Given the description of an element on the screen output the (x, y) to click on. 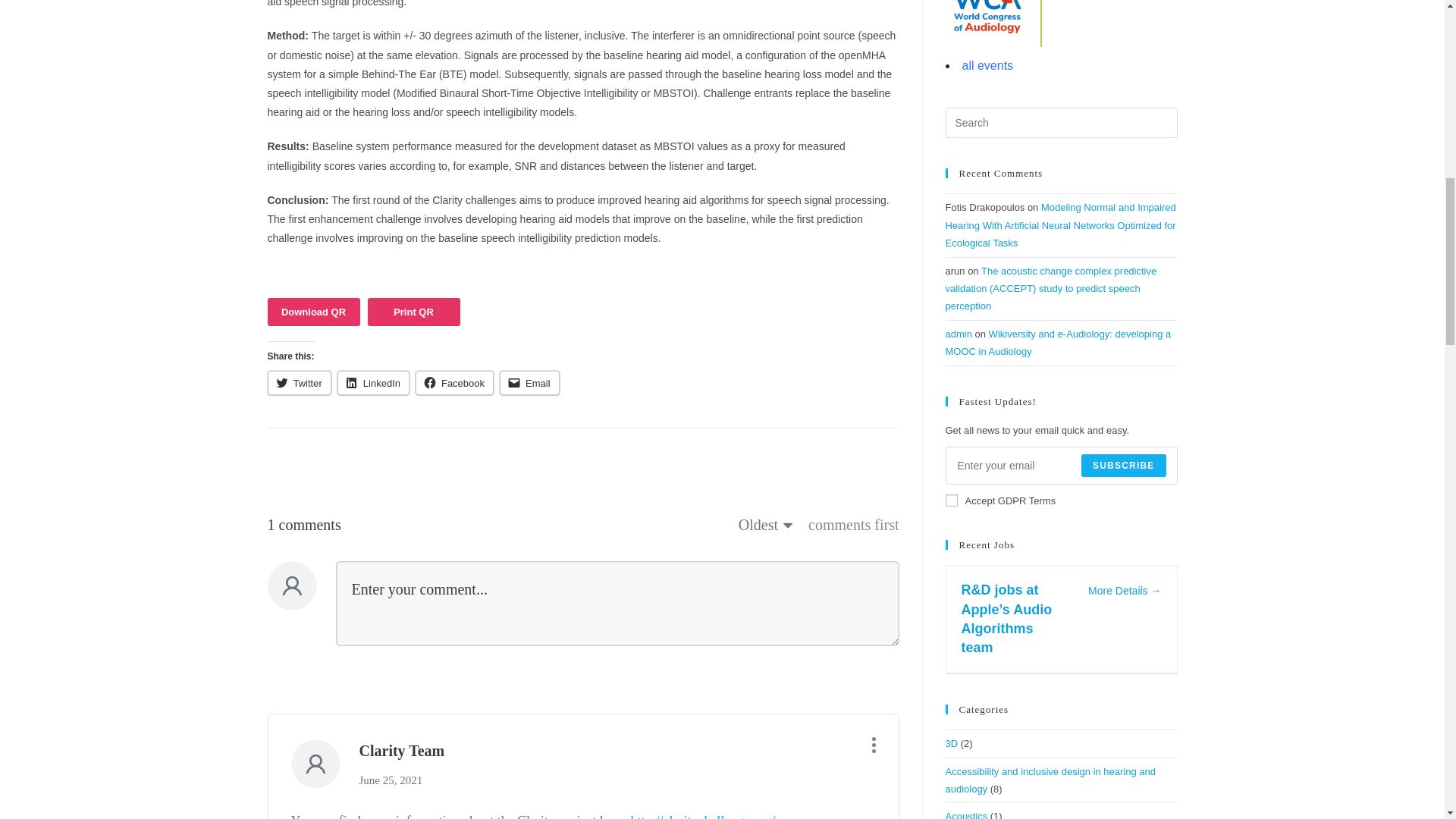
Click to email a link to a friend (529, 382)
1 (950, 500)
Click to share on LinkedIn (373, 382)
Click to share on Facebook (453, 382)
Click to share on Twitter (298, 382)
all events (986, 65)
Comment Author Image (315, 762)
